Given the description of an element on the screen output the (x, y) to click on. 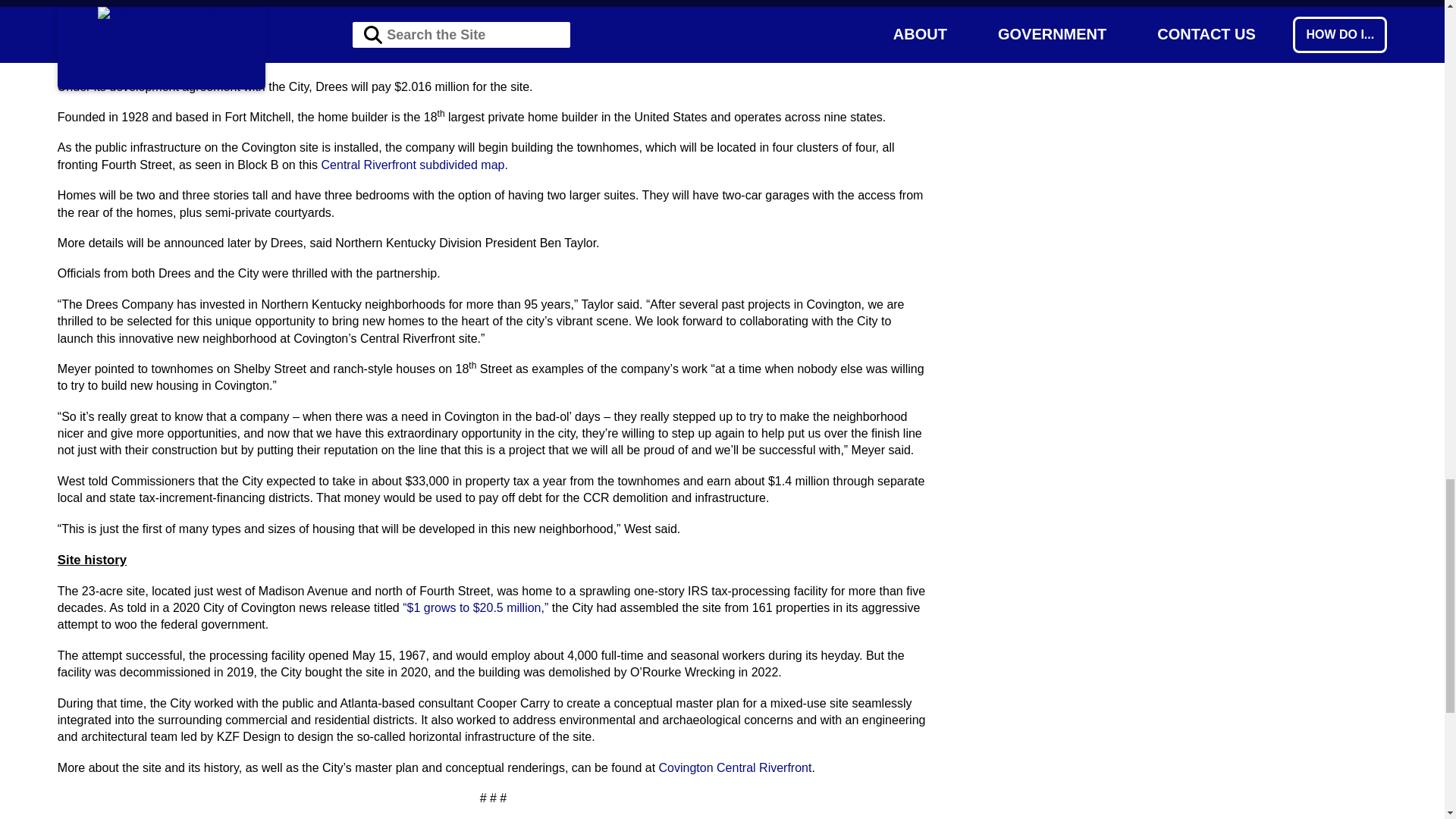
Central Riverfront subdivided map. (414, 164)
Covington Central Riverfront (735, 767)
